Given the description of an element on the screen output the (x, y) to click on. 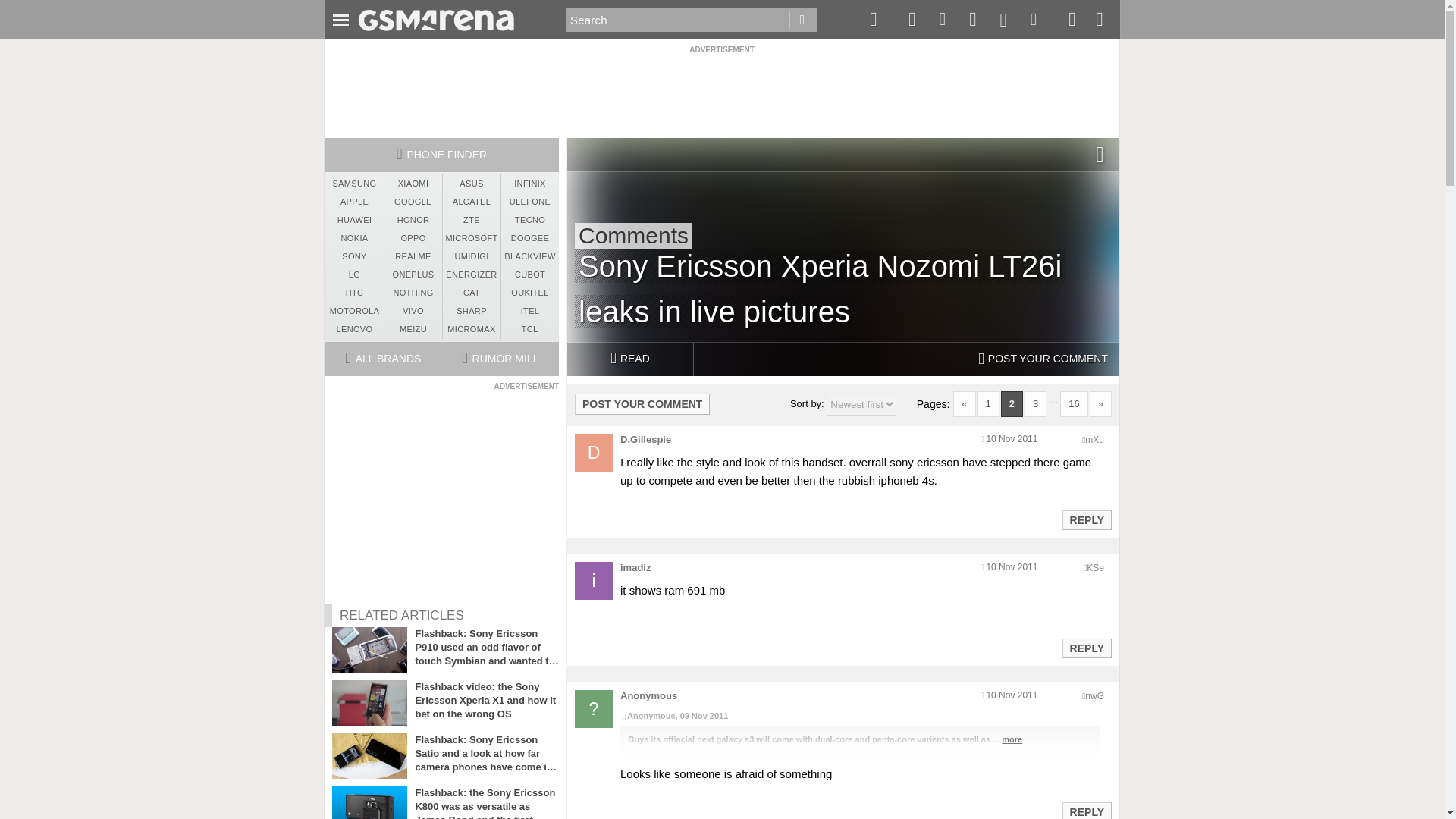
Encoded anonymized location (1093, 439)
Encoded anonymized location (1093, 696)
Encoded anonymized location (1094, 567)
Go (802, 19)
READ (630, 359)
Go (802, 19)
REPLY (1086, 520)
Sort comments by (861, 404)
16 (1073, 403)
Reply to this post (1086, 811)
Reply to this post (1086, 520)
POST YOUR COMMENT (1042, 359)
Reply to this post (1086, 648)
POST YOUR COMMENT (642, 403)
